Given the description of an element on the screen output the (x, y) to click on. 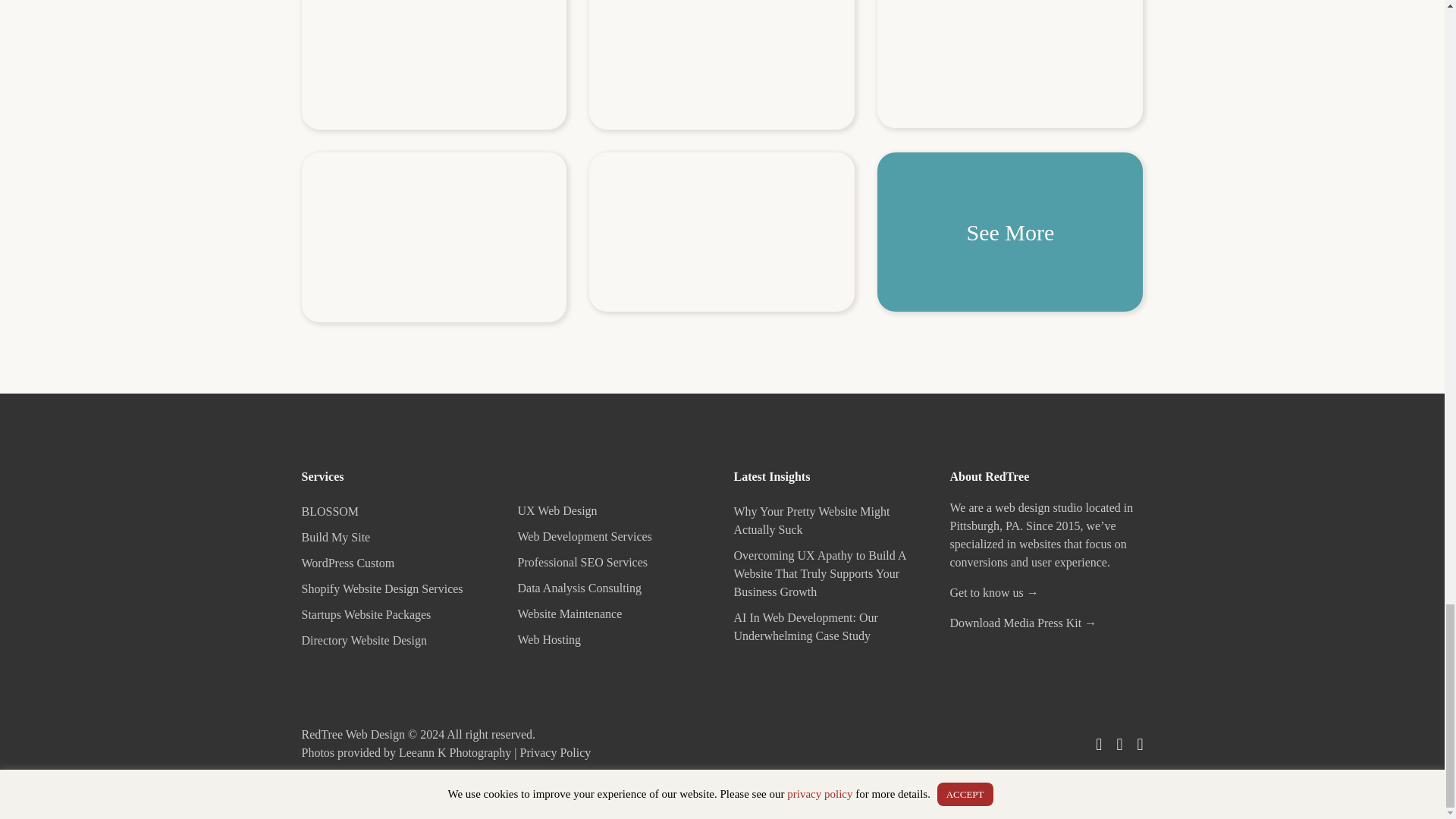
See More (1009, 232)
BLOSSOM (330, 511)
